Given the description of an element on the screen output the (x, y) to click on. 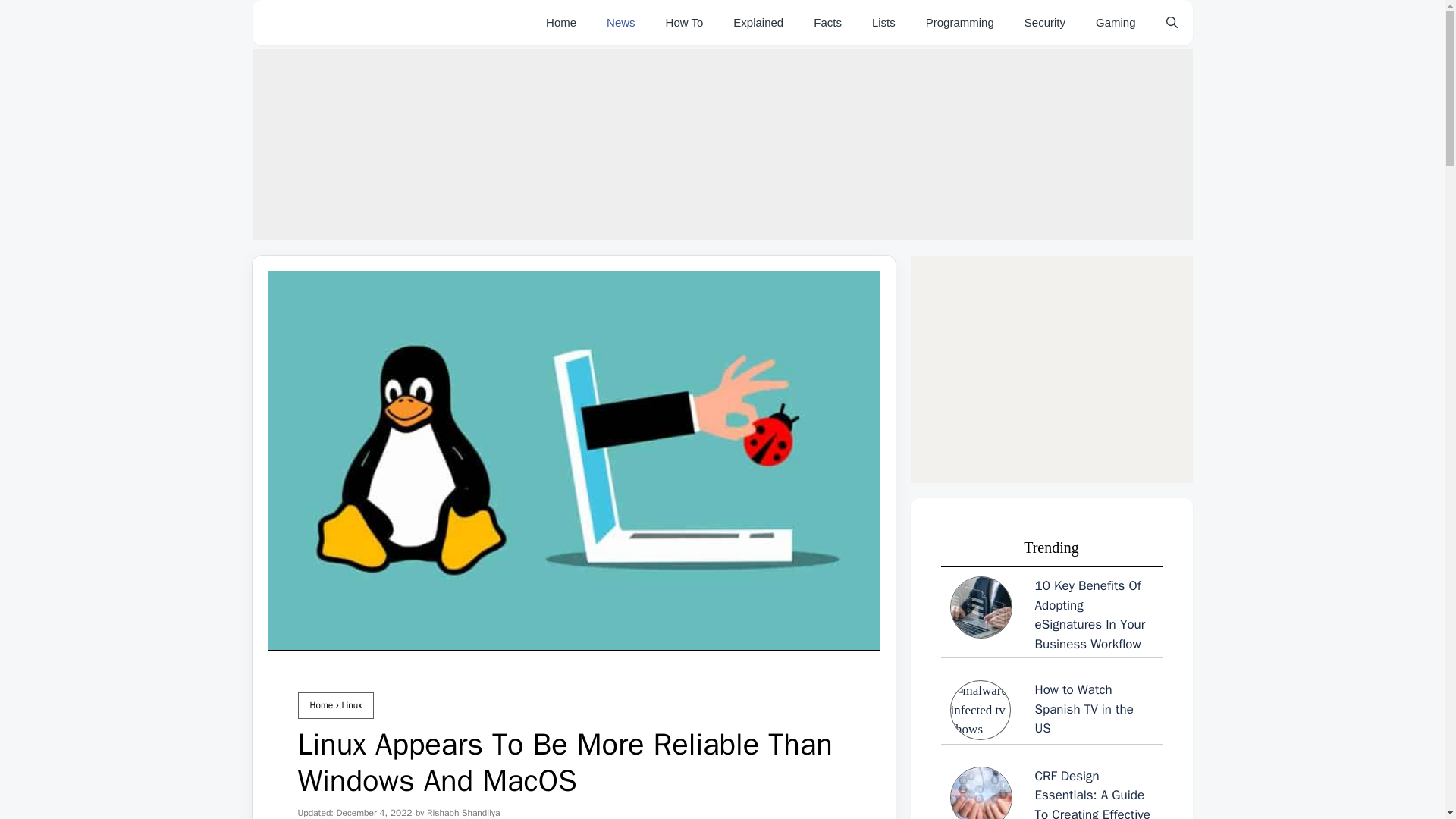
Home (561, 22)
Gaming (1115, 22)
Facts (827, 22)
Home (320, 705)
Rishabh Shandilya (463, 812)
Technology (620, 22)
Security (1044, 22)
Programming (960, 22)
How to Watch Spanish TV in the US (1051, 710)
Top Lists (884, 22)
Lists (884, 22)
Explained (757, 22)
How To (684, 22)
